Given the description of an element on the screen output the (x, y) to click on. 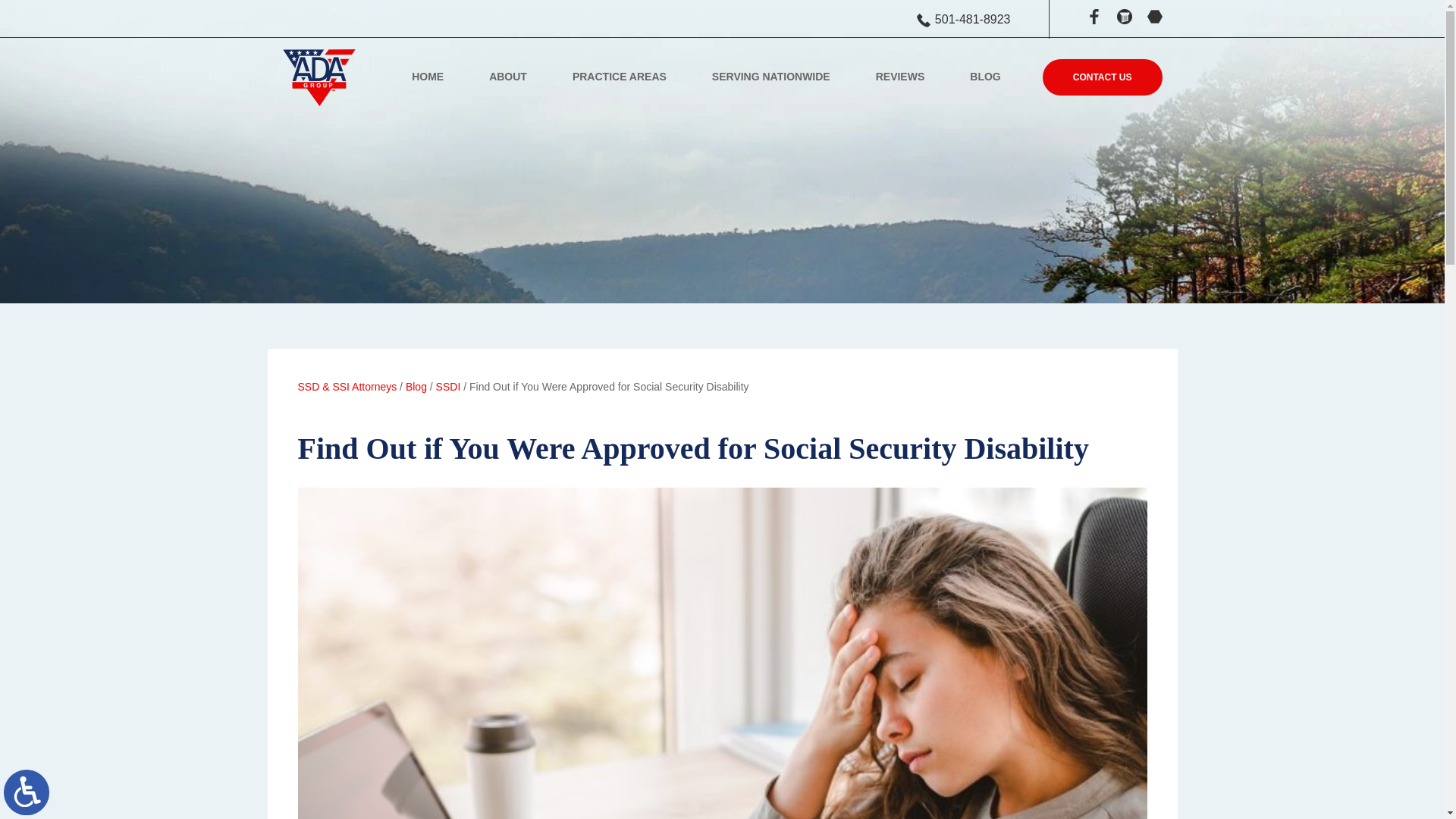
REVIEWS (900, 79)
BLOG (985, 79)
HOME (426, 79)
ABOUT (507, 79)
PRACTICE AREAS (619, 79)
501-481-8923 (963, 19)
Switch to ADA Accessible Theme (26, 791)
Blog (416, 386)
CONTACT US (1101, 76)
SSDI (448, 386)
